Given the description of an element on the screen output the (x, y) to click on. 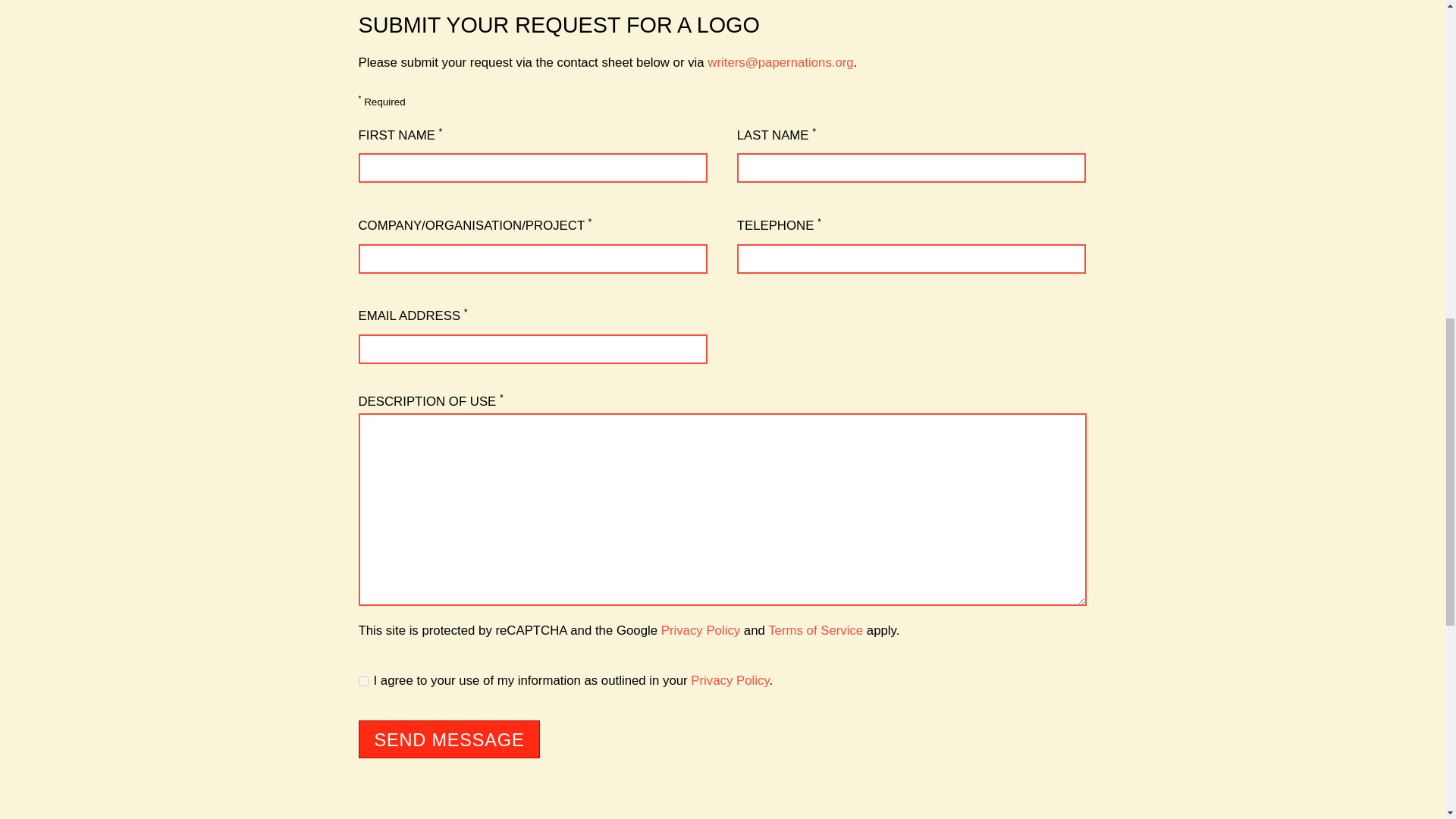
Privacy Policy (700, 630)
Send message (449, 739)
Privacy Policy (729, 680)
Terms of Service (815, 630)
1 (363, 681)
Send message (449, 739)
